Given the description of an element on the screen output the (x, y) to click on. 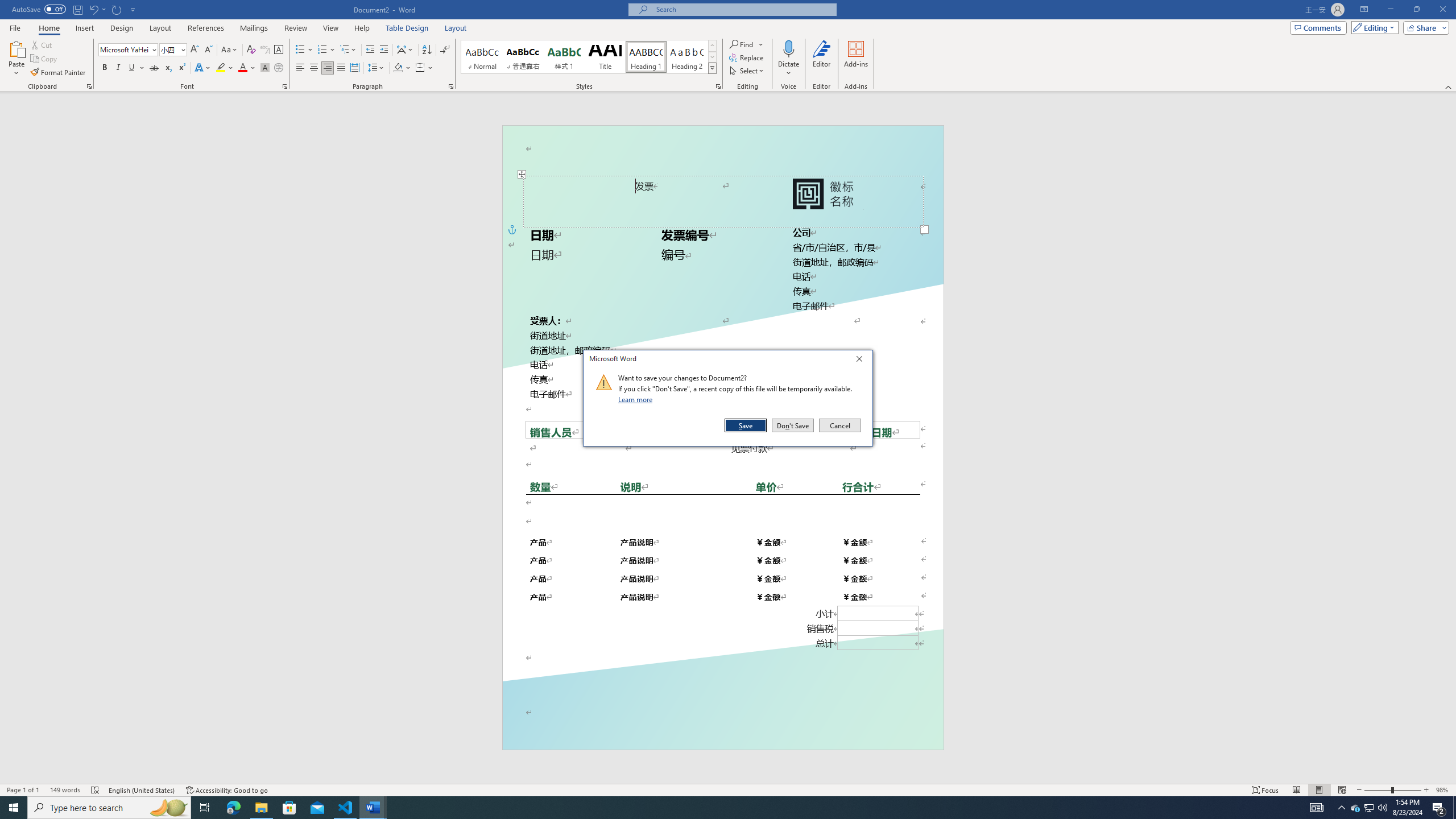
Word - 2 running windows (373, 807)
Zoom 98% (1443, 790)
